Given the description of an element on the screen output the (x, y) to click on. 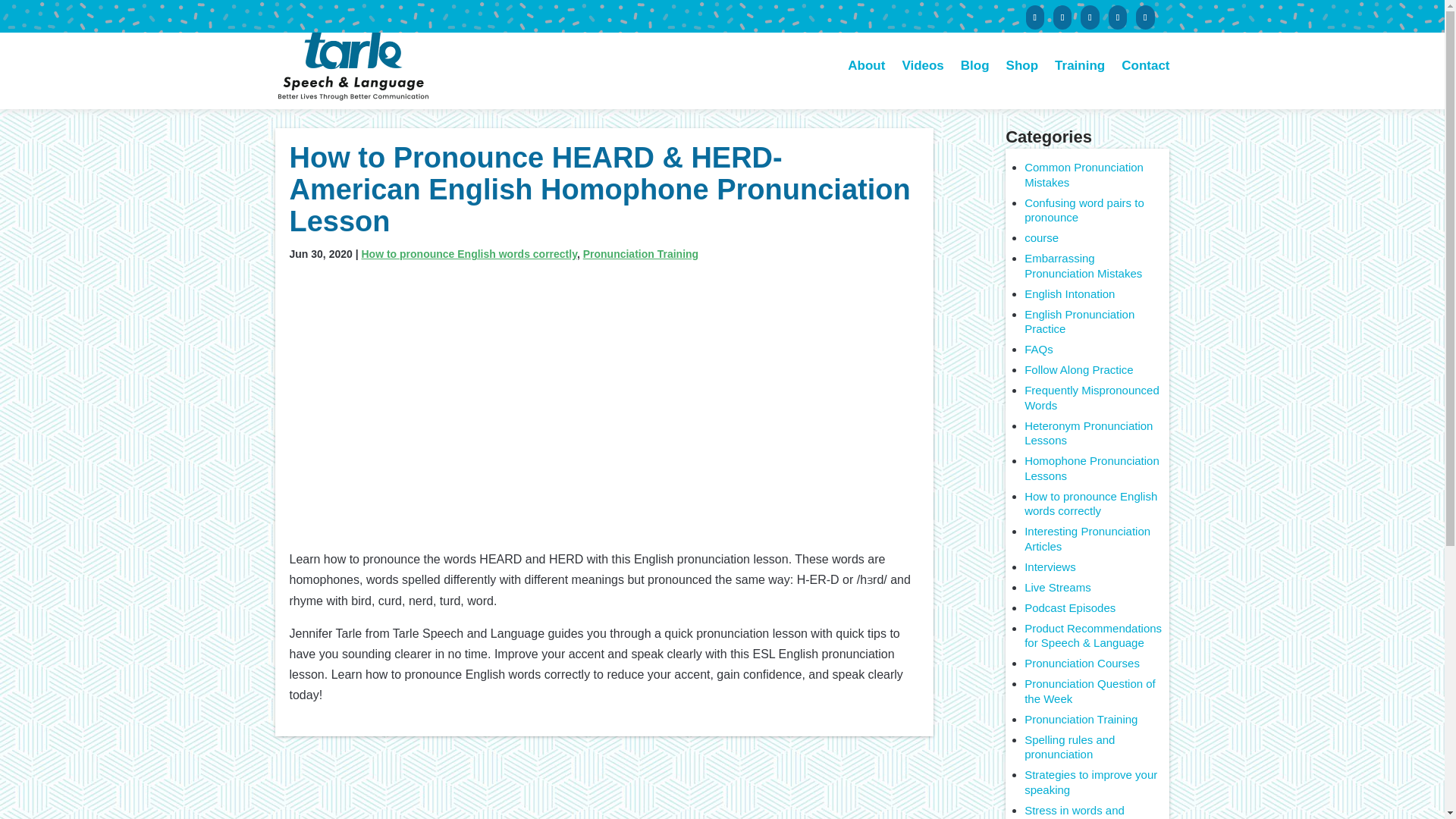
Stress in words and sentences (1074, 811)
Pronunciation Question of the Week (1090, 691)
How to pronounce English words correctly (1091, 503)
Podcast Episodes (1070, 607)
English Pronunciation Practice (1079, 321)
Frequently Mispronounced Words (1091, 397)
English Intonation (1070, 293)
FAQs (1038, 349)
Training (1079, 84)
Interesting Pronunciation Articles (1087, 538)
Heteronym Pronunciation Lessons (1089, 433)
Strategies to improve your speaking (1091, 782)
Pronunciation Training (1081, 718)
Pronunciation Courses (1082, 662)
Homophone Pronunciation Lessons (1091, 468)
